Given the description of an element on the screen output the (x, y) to click on. 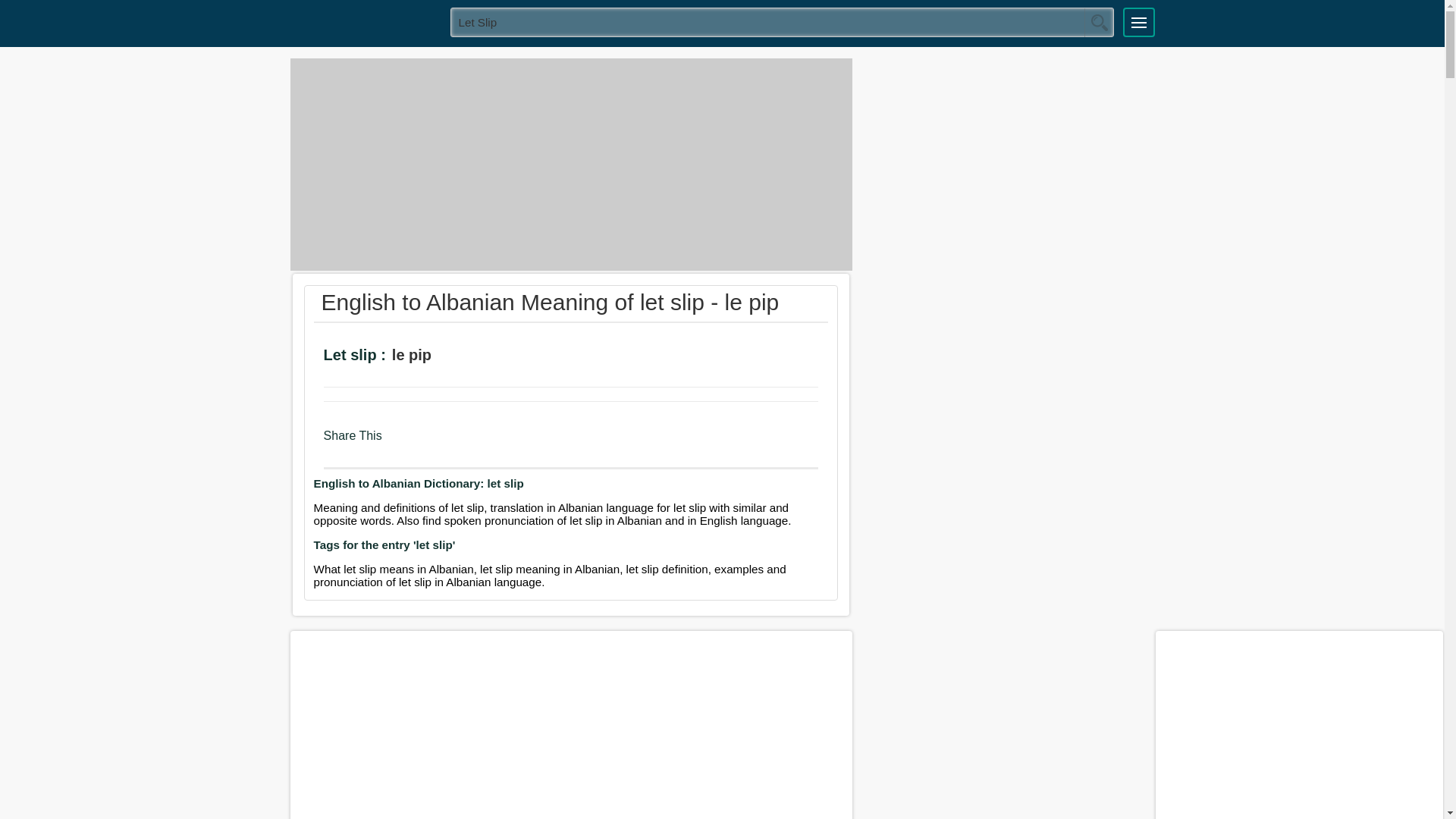
Add To Favorites (499, 357)
Facebook (398, 442)
Search (1098, 22)
Linkedin (458, 442)
Twitter (428, 442)
More Share (485, 442)
let slip (782, 21)
Say The Word (457, 357)
ALBANIAN (365, 20)
Advertisement (570, 164)
